Given the description of an element on the screen output the (x, y) to click on. 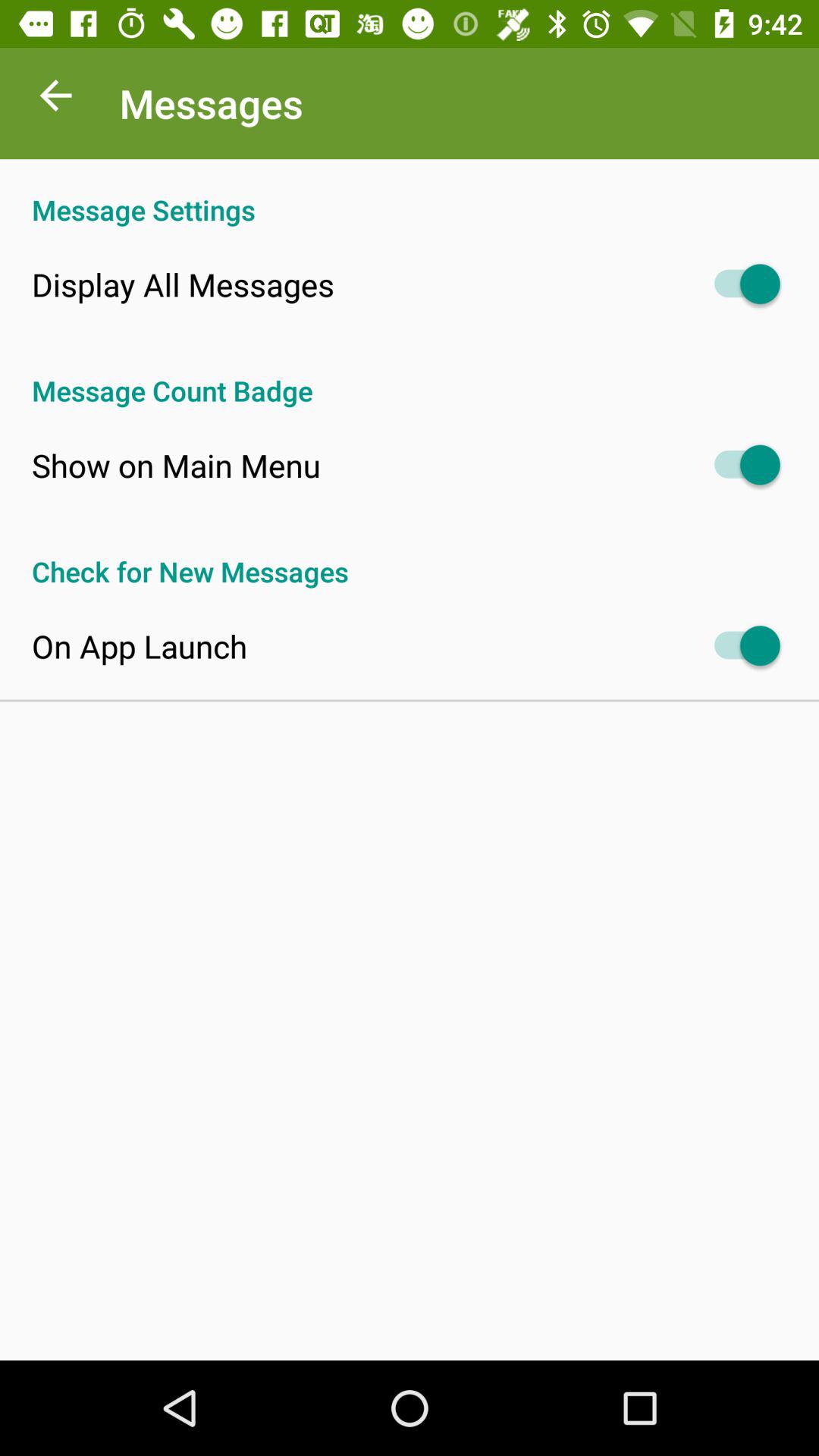
launch check for new app (409, 555)
